Given the description of an element on the screen output the (x, y) to click on. 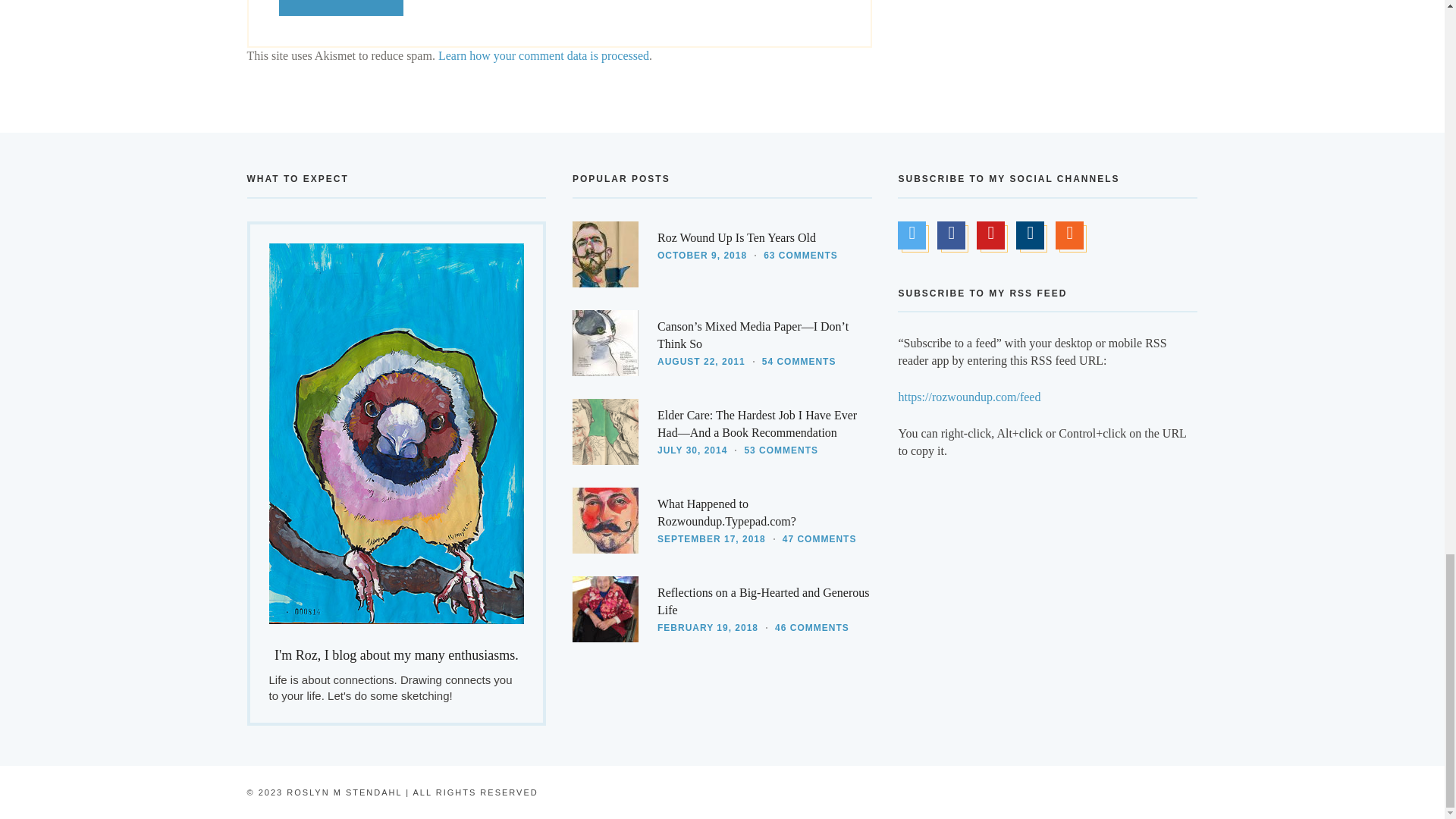
Post Comment (341, 7)
